Given the description of an element on the screen output the (x, y) to click on. 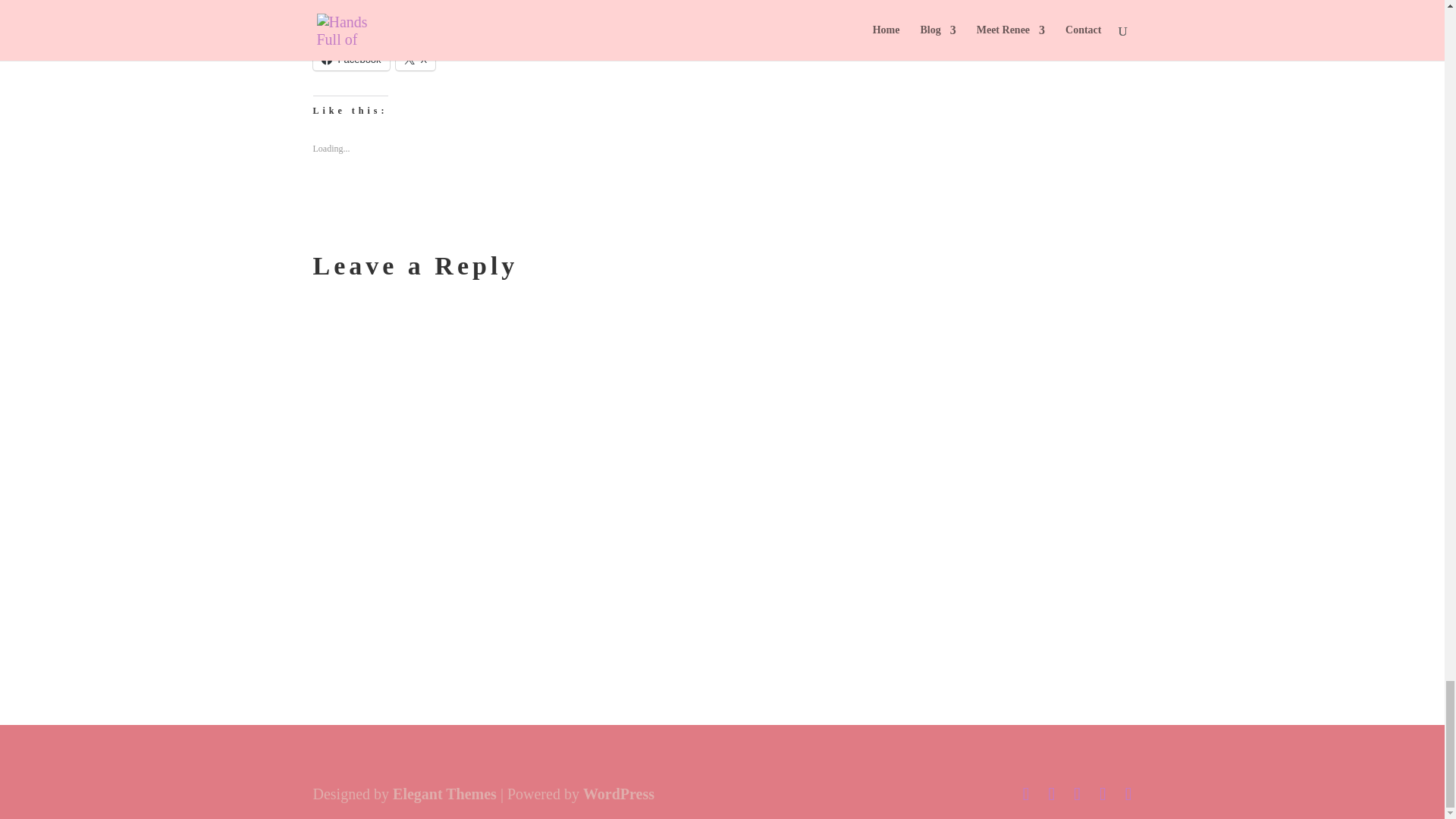
Facebook (350, 58)
Premium WordPress Themes (444, 793)
Click to share on X (415, 58)
X (415, 58)
Click to share on Facebook (350, 58)
